Given the description of an element on the screen output the (x, y) to click on. 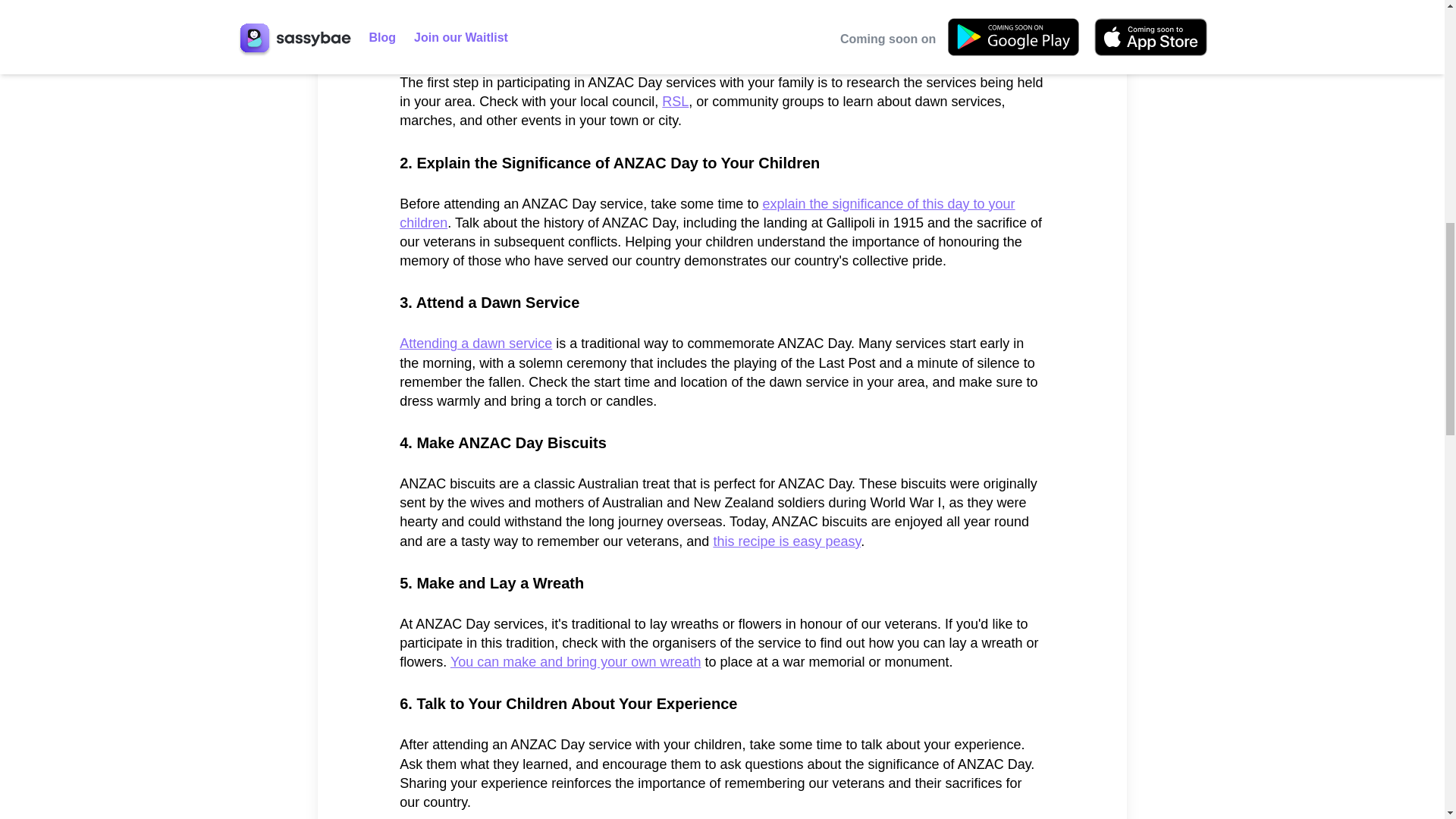
explain the significance of this day to your children (706, 213)
You can make and bring your own wreath (575, 661)
this recipe is easy peasy (786, 540)
Attending a dawn service (474, 343)
RSL (675, 101)
